Given the description of an element on the screen output the (x, y) to click on. 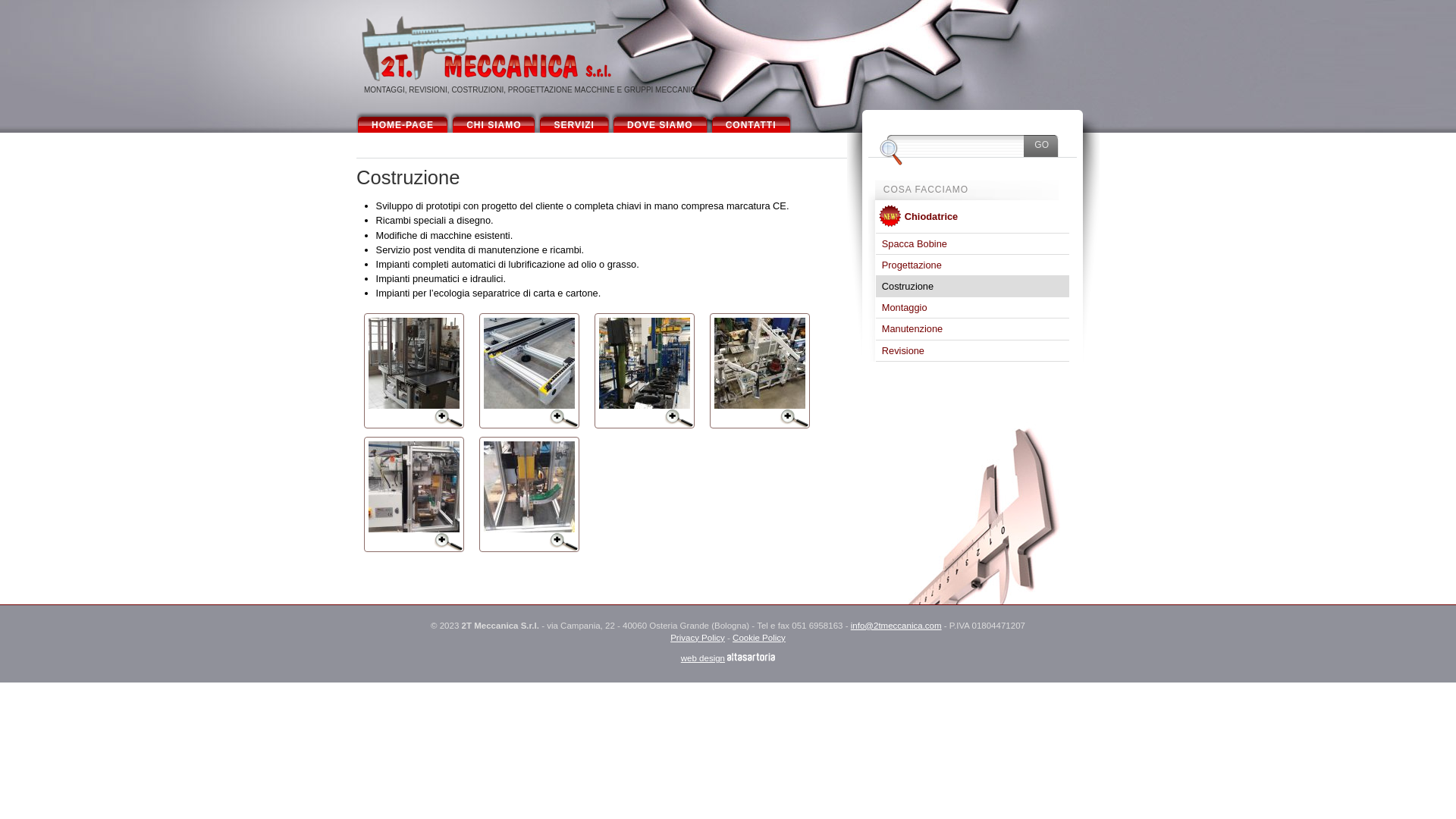
HOME-PAGE Element type: text (402, 121)
DOVE SIAMO Element type: text (659, 121)
SERVIZI Element type: text (573, 121)
Costruzione Element type: text (972, 286)
Manutenzione Element type: text (972, 328)
Cookie Policy Element type: text (758, 637)
Privacy Policy Element type: text (697, 637)
Go Element type: text (1041, 144)
Revisione Element type: text (972, 350)
Spacca Bobine Element type: text (972, 243)
CONTATTI Element type: text (750, 121)
CHI SIAMO Element type: text (493, 121)
web design Element type: text (702, 657)
info@2tmeccanica.com Element type: text (895, 625)
Progettazione Element type: text (972, 264)
Inserire i termini da cercare. Element type: hover (955, 144)
Montaggio Element type: text (972, 307)
AltaSartoria Element type: hover (751, 656)
Chiodatrice Element type: text (983, 216)
